Given the description of an element on the screen output the (x, y) to click on. 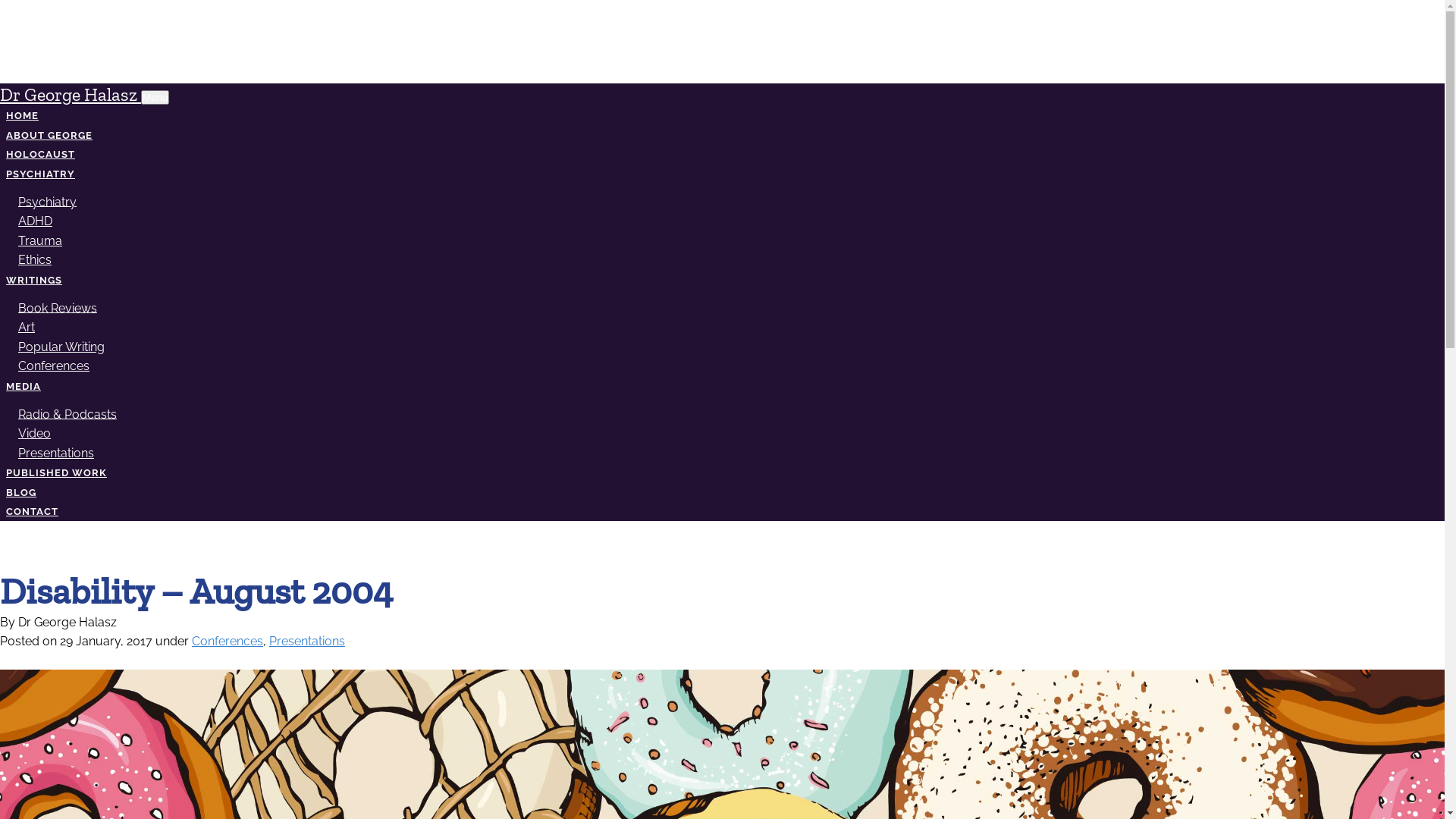
Menu Element type: text (155, 97)
Trauma Element type: text (40, 240)
Ethics Element type: text (34, 259)
ADHD Element type: text (35, 220)
CONTACT Element type: text (32, 511)
Dr George Halasz Element type: text (70, 94)
Conferences Element type: text (53, 365)
Radio & Podcasts Element type: text (67, 414)
Psychiatry Element type: text (47, 202)
ABOUT GEORGE Element type: text (49, 135)
BLOG Element type: text (21, 492)
Book Reviews Element type: text (57, 308)
Conferences Element type: text (227, 640)
PUBLISHED WORK Element type: text (56, 472)
MEDIA Element type: text (23, 386)
PSYCHIATRY Element type: text (40, 173)
Video Element type: text (34, 433)
Popular Writing Element type: text (61, 346)
HOME Element type: text (22, 115)
Presentations Element type: text (56, 453)
WRITINGS Element type: text (34, 279)
Presentations Element type: text (307, 640)
Art Element type: text (26, 327)
HOLOCAUST Element type: text (40, 154)
